Given the description of an element on the screen output the (x, y) to click on. 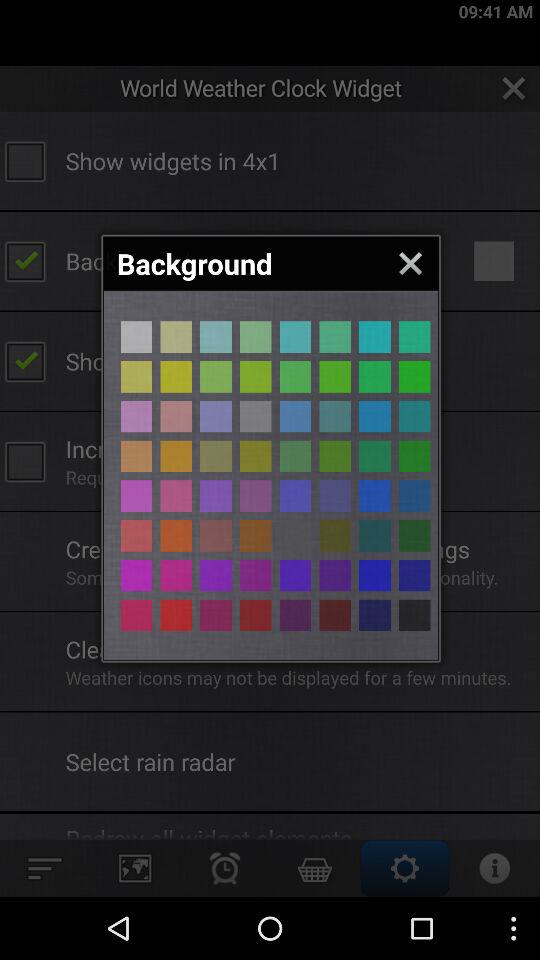
select color (176, 535)
